Given the description of an element on the screen output the (x, y) to click on. 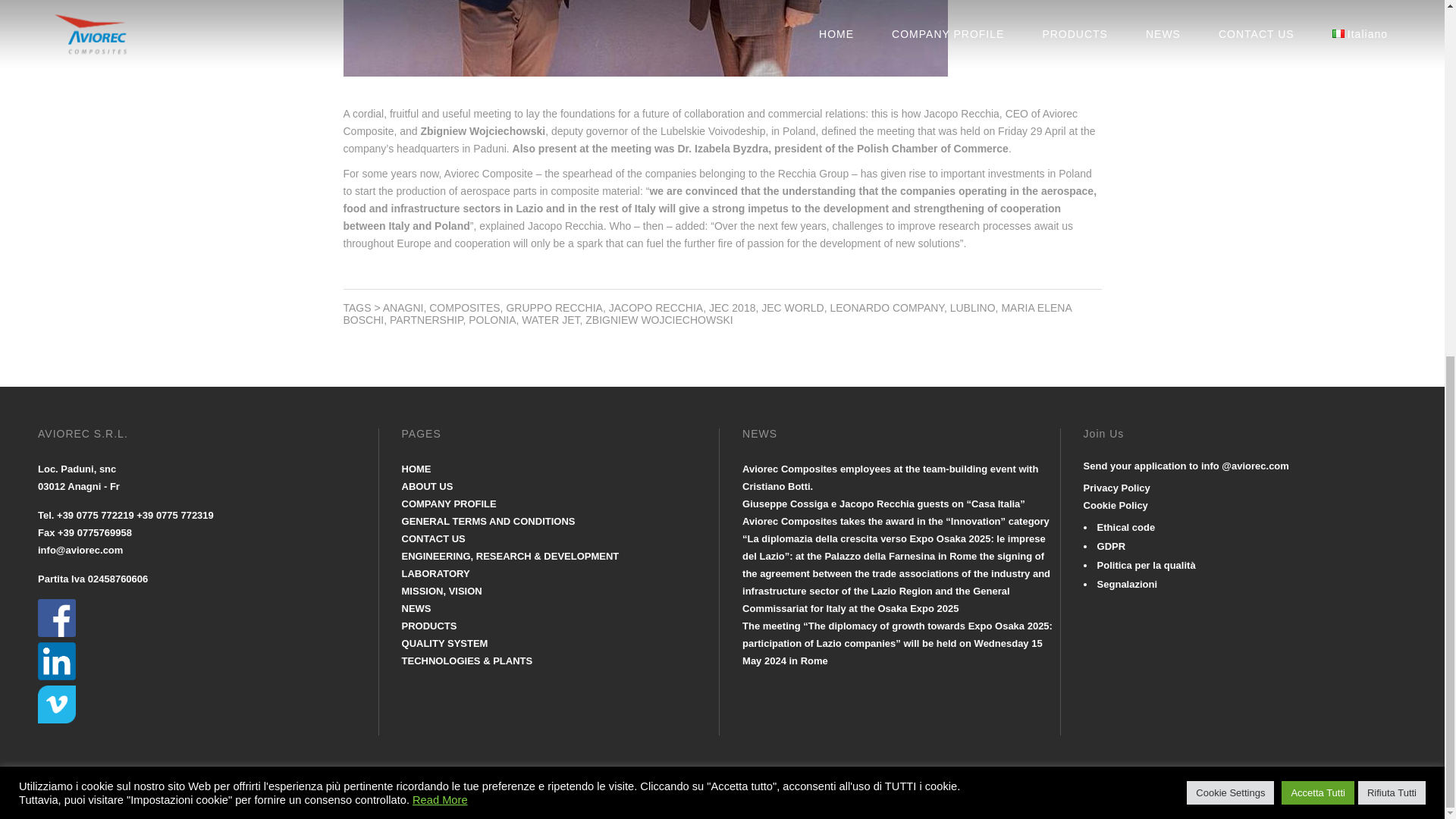
JEC WORLD (792, 307)
Linkedin (56, 676)
LEONARDO COMPANY (886, 307)
POLONIA (491, 319)
WATER JET (550, 319)
LUBLINO (972, 307)
facebook (56, 633)
JACOPO RECCHIA (655, 307)
ANAGNI (402, 307)
PARTNERSHIP (426, 319)
GRUPPO RECCHIA (553, 307)
COMPOSITES (464, 307)
Linkedin (56, 719)
MARIA ELENA BOSCHI (706, 313)
JEC 2018 (732, 307)
